Given the description of an element on the screen output the (x, y) to click on. 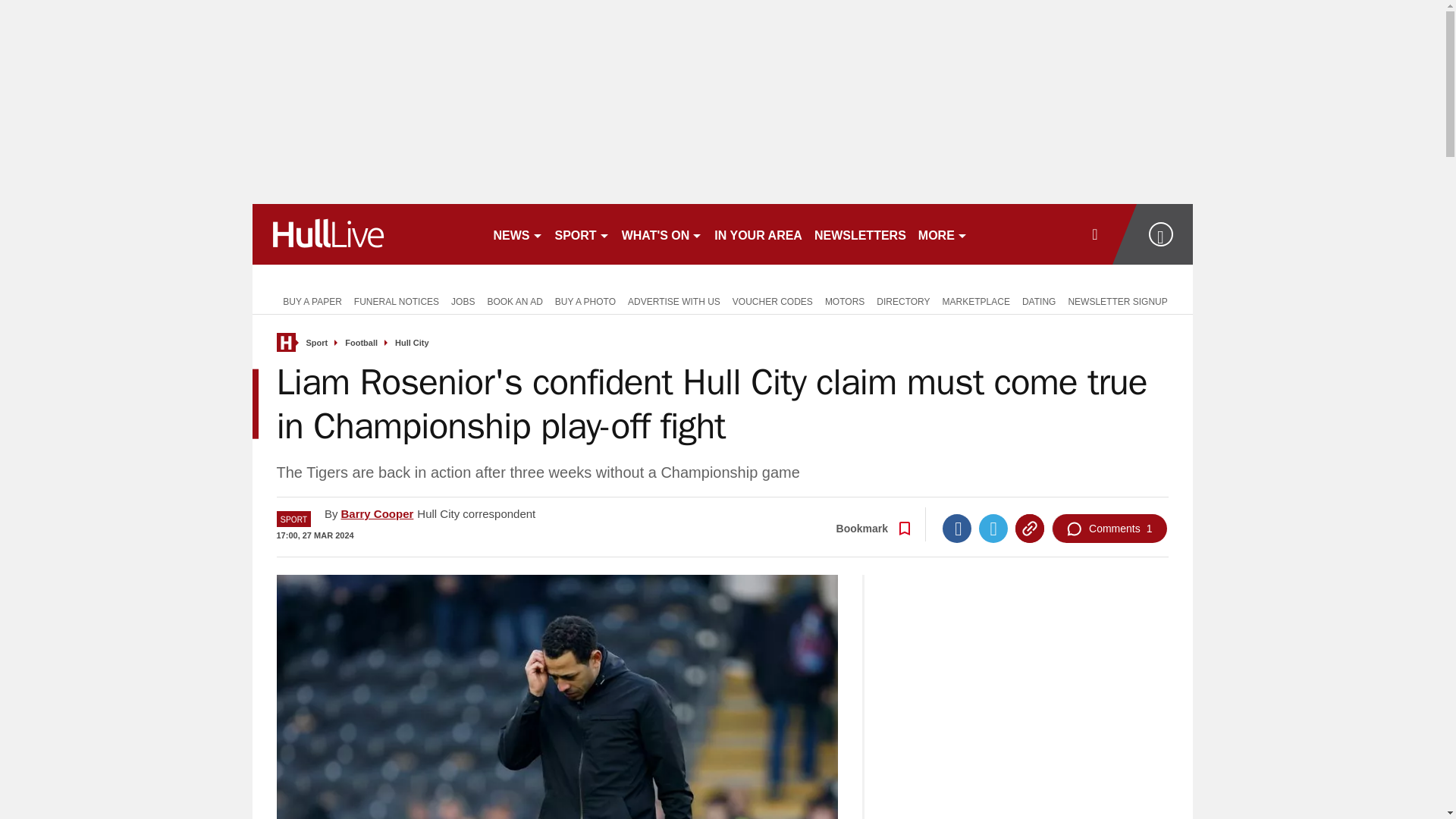
IN YOUR AREA (757, 233)
Twitter (992, 528)
NEWSLETTERS (860, 233)
MORE (943, 233)
SPORT (581, 233)
Comments (1108, 528)
NEWS (517, 233)
Facebook (956, 528)
WHAT'S ON (662, 233)
hulldailymail (365, 233)
